Given the description of an element on the screen output the (x, y) to click on. 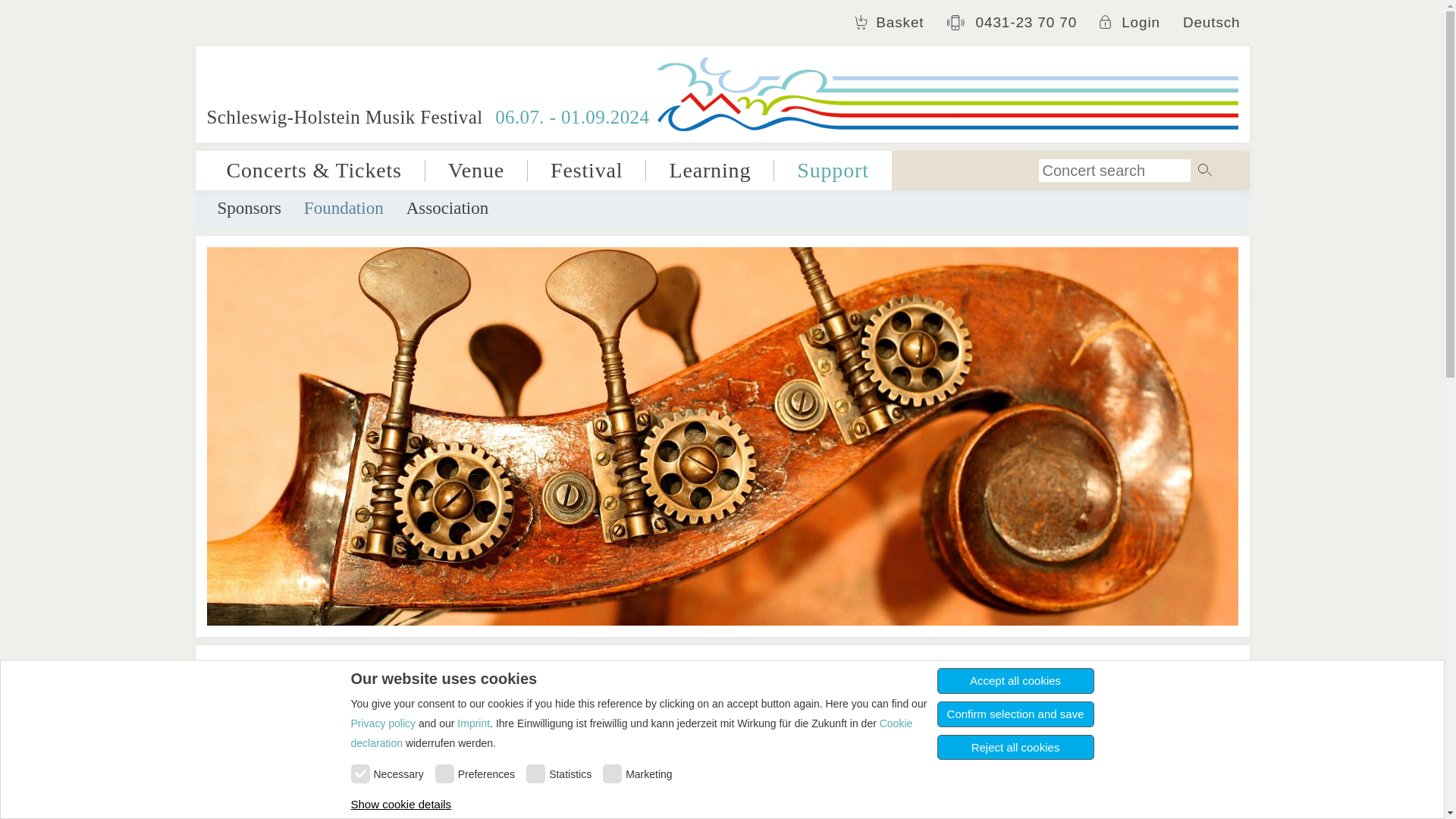
Support (832, 169)
Association (447, 208)
0431-23 70 70 (1011, 22)
Festival (586, 169)
Foundation (344, 208)
Venue (476, 169)
Imprint (473, 723)
Learning (710, 169)
Privacy policy (382, 723)
Login (1129, 22)
Sponsors (248, 208)
Deutsch (1211, 22)
Basket (888, 22)
Schleswig-Holstein Musik Festival 06.07. - 01.09.2024 (721, 94)
